Given the description of an element on the screen output the (x, y) to click on. 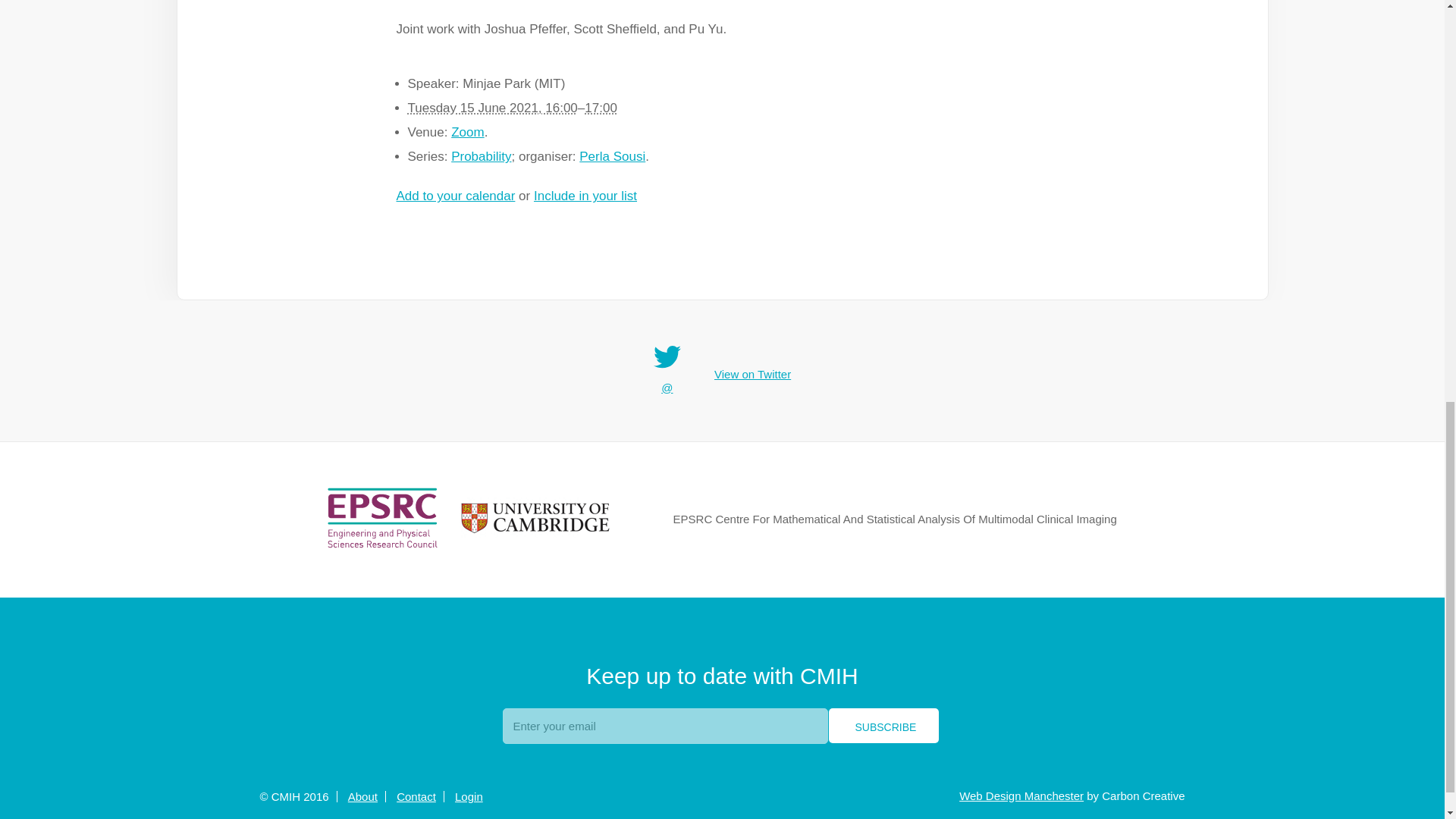
Contact (415, 796)
About (362, 796)
View on Twitter (752, 374)
Include in your list (585, 196)
Subscribe (882, 725)
20210615T160000 (492, 107)
Zoom (467, 132)
Subscribe (882, 725)
Probability (481, 156)
Perla Sousi (612, 156)
